Given the description of an element on the screen output the (x, y) to click on. 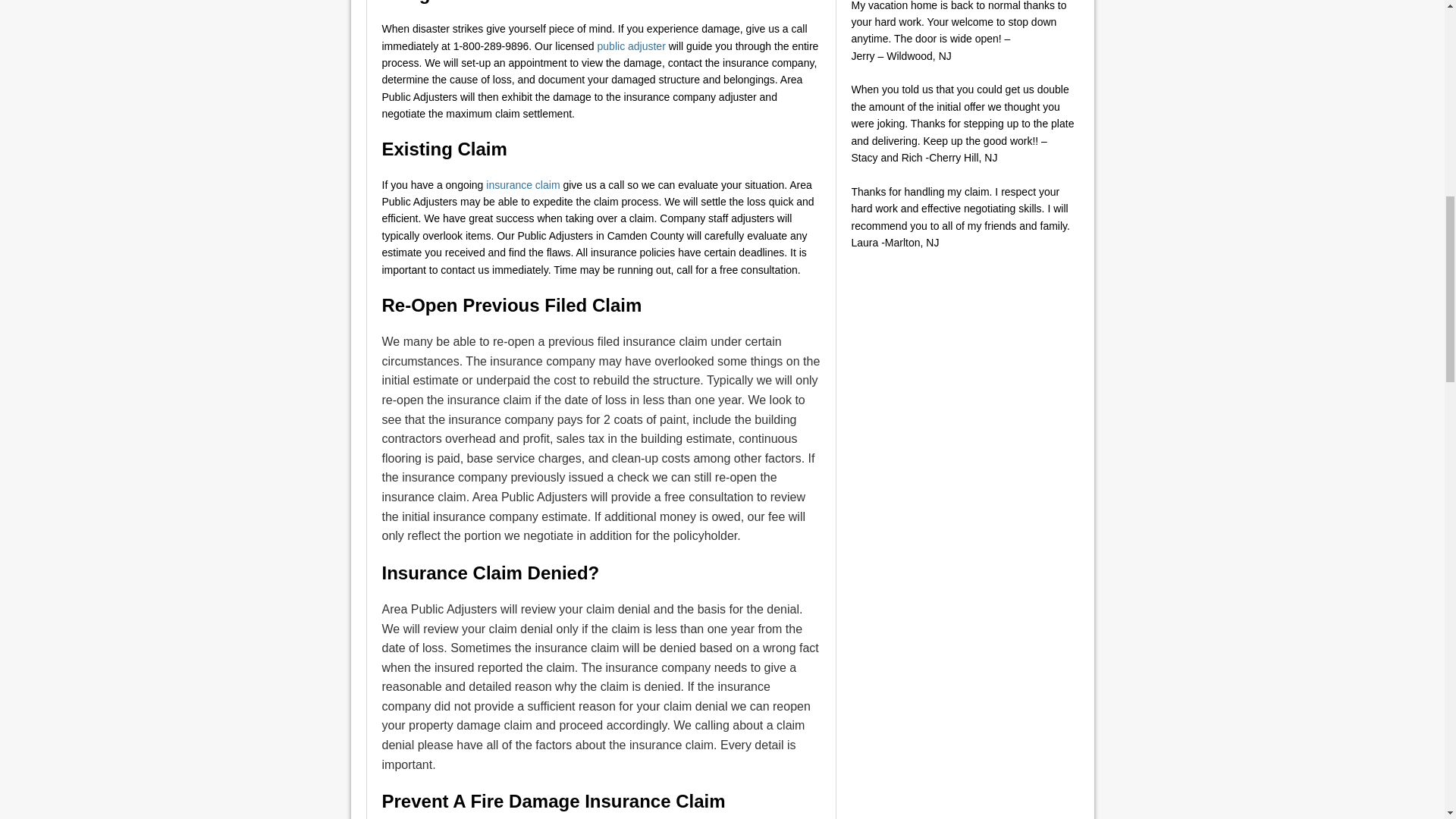
public adjuster (630, 46)
insurance claim (522, 184)
